Given the description of an element on the screen output the (x, y) to click on. 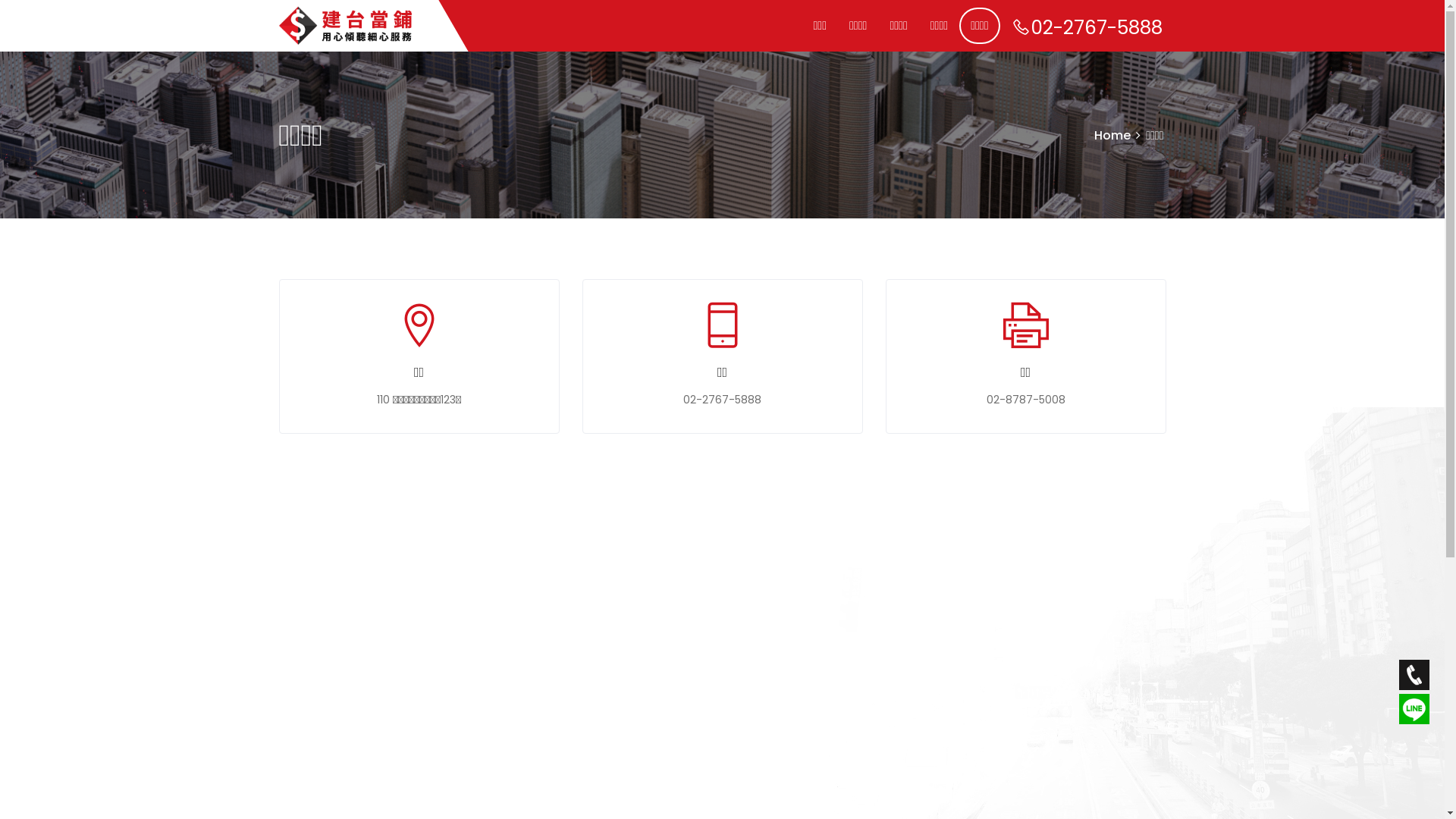
phone Element type: hover (1414, 675)
02-2767-5888 Element type: text (1086, 27)
line Element type: hover (1414, 709)
Home Element type: text (1112, 134)
